Given the description of an element on the screen output the (x, y) to click on. 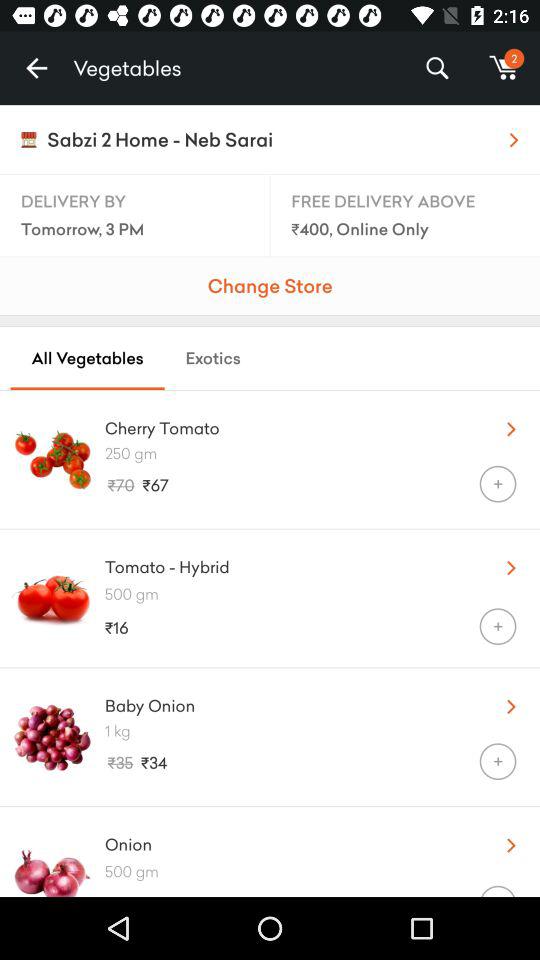
open the icon to the left of the vegetables (36, 68)
